Given the description of an element on the screen output the (x, y) to click on. 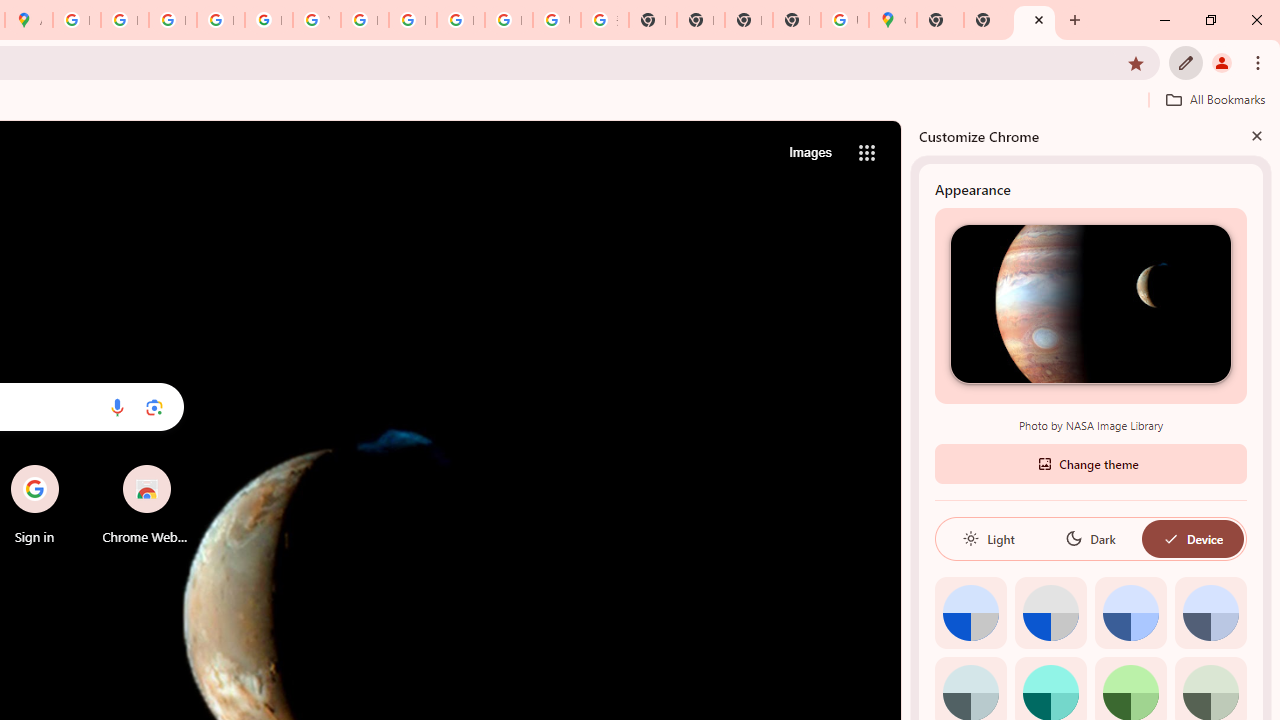
YouTube (316, 20)
Device (1192, 538)
New Tab (796, 20)
Policy Accountability and Transparency - Transparency Center (76, 20)
Cool grey (1210, 612)
Chrome Web Store (146, 504)
Privacy Help Center - Policies Help (124, 20)
